Given the description of an element on the screen output the (x, y) to click on. 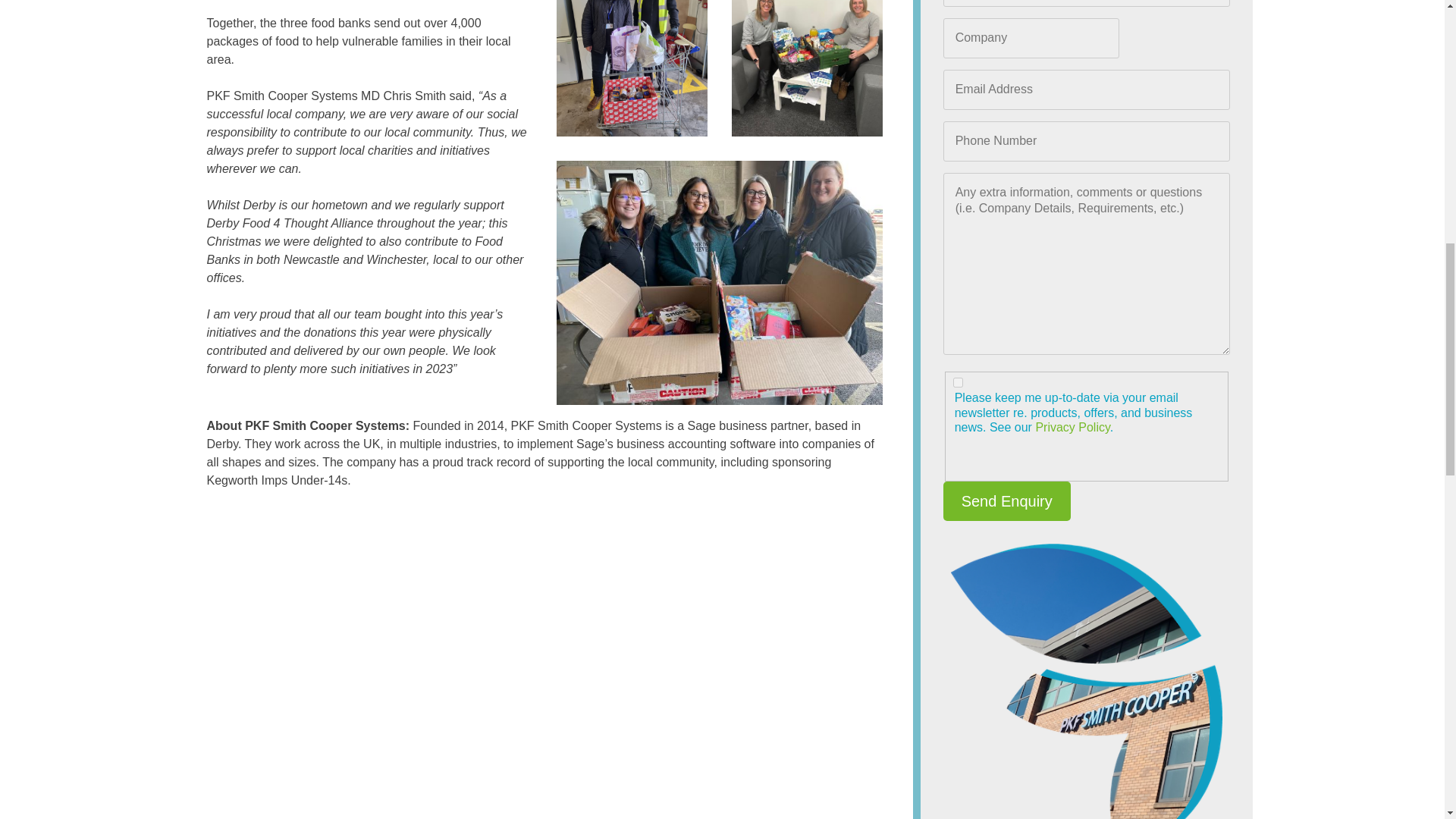
Send Enquiry (1006, 500)
